Given the description of an element on the screen output the (x, y) to click on. 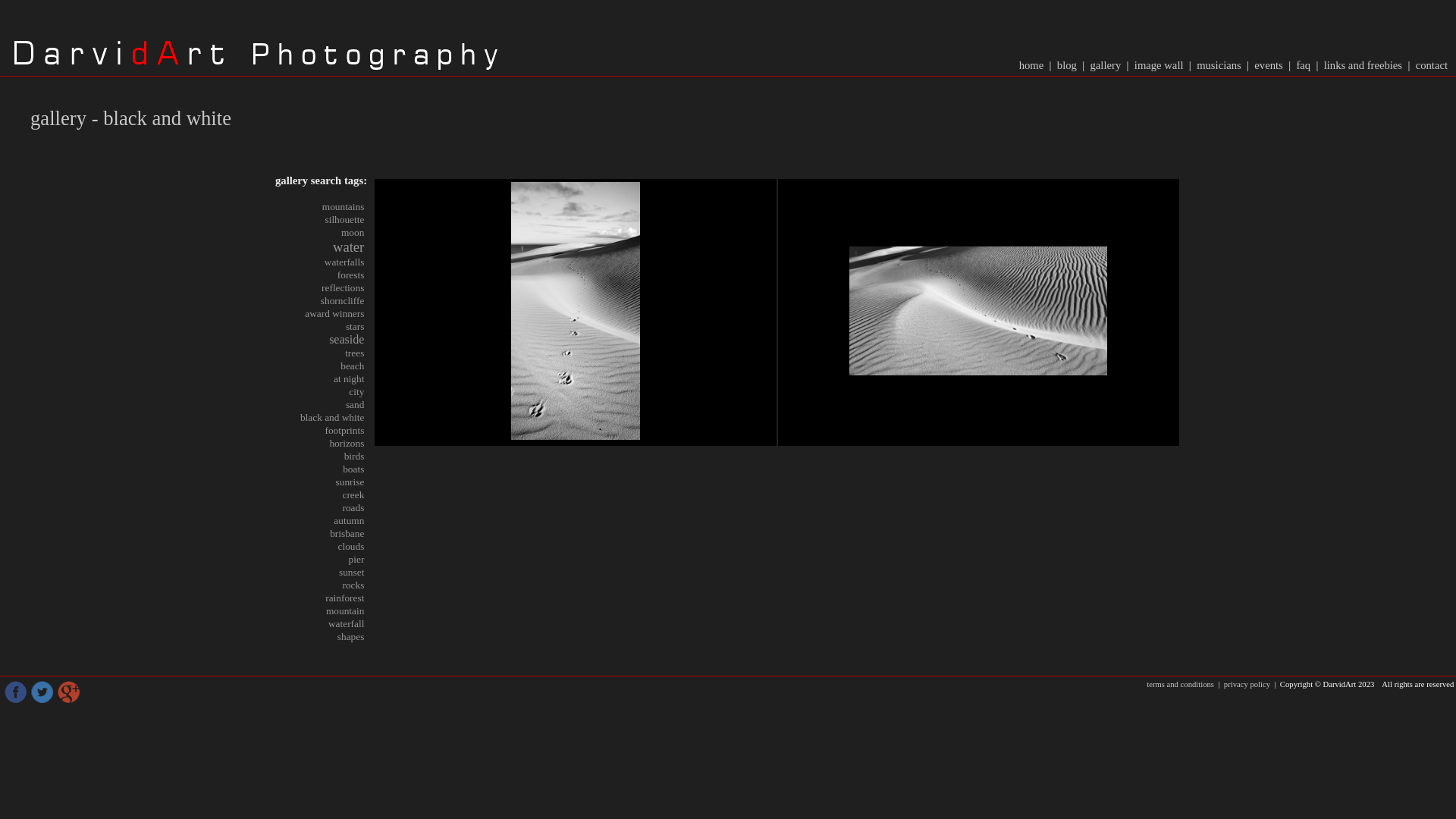
beach Element type: text (352, 365)
shorncliffe Element type: text (342, 300)
  musicians   Element type: text (1218, 65)
mountain Element type: text (345, 610)
rocks Element type: text (353, 584)
city Element type: text (356, 391)
forests Element type: text (350, 274)
boats Element type: text (353, 468)
birds Element type: text (354, 455)
trees Element type: text (354, 352)
waterfall Element type: text (346, 623)
  events   Element type: text (1268, 65)
footprints Element type: text (344, 430)
 terms and conditions   Element type: text (1181, 684)
horizons Element type: text (346, 442)
award winners Element type: text (334, 313)
shapes Element type: text (350, 636)
stars Element type: text (354, 326)
  gallery   Element type: text (1105, 65)
waterfalls Element type: text (344, 261)
sunset Element type: text (351, 571)
  blog   Element type: text (1066, 65)
reflections Element type: text (342, 287)
sunrise Element type: text (349, 481)
  privacy policy   Element type: text (1246, 684)
brisbane Element type: text (346, 533)
seaside Element type: text (346, 338)
at night Element type: text (348, 378)
moon Element type: text (352, 232)
rainforest Element type: text (344, 597)
black and white Element type: text (332, 417)
mountains Element type: text (343, 206)
  faq   Element type: text (1302, 65)
autumn Element type: text (348, 520)
water Element type: text (348, 246)
  contact   Element type: text (1430, 65)
silhouette Element type: text (344, 219)
  image wall   Element type: text (1158, 65)
roads Element type: text (353, 507)
  links and freebies   Element type: text (1362, 65)
pier Element type: text (356, 558)
 home   Element type: text (1032, 65)
sand Element type: text (354, 404)
clouds Element type: text (351, 546)
creek Element type: text (353, 494)
